Given the description of an element on the screen output the (x, y) to click on. 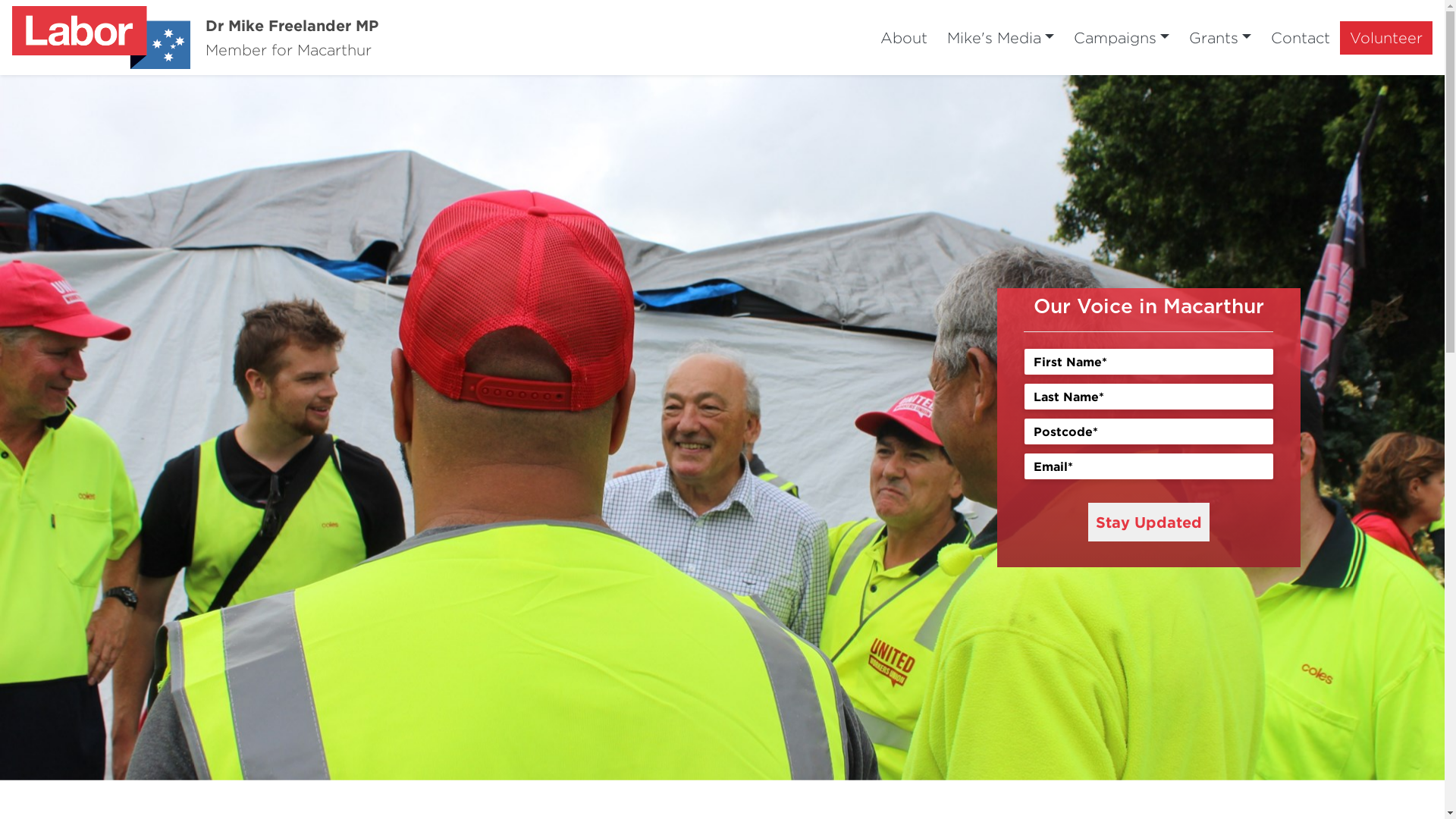
Grants Element type: text (1220, 37)
About Element type: text (903, 37)
Volunteer Element type: text (1385, 37)
Next Element type: text (1335, 427)
Mike's Media Element type: text (1000, 37)
Previous Element type: text (108, 427)
Contact Element type: text (1300, 37)
Stay Updated Element type: text (1147, 521)
Campaigns Element type: text (1121, 37)
